Given the description of an element on the screen output the (x, y) to click on. 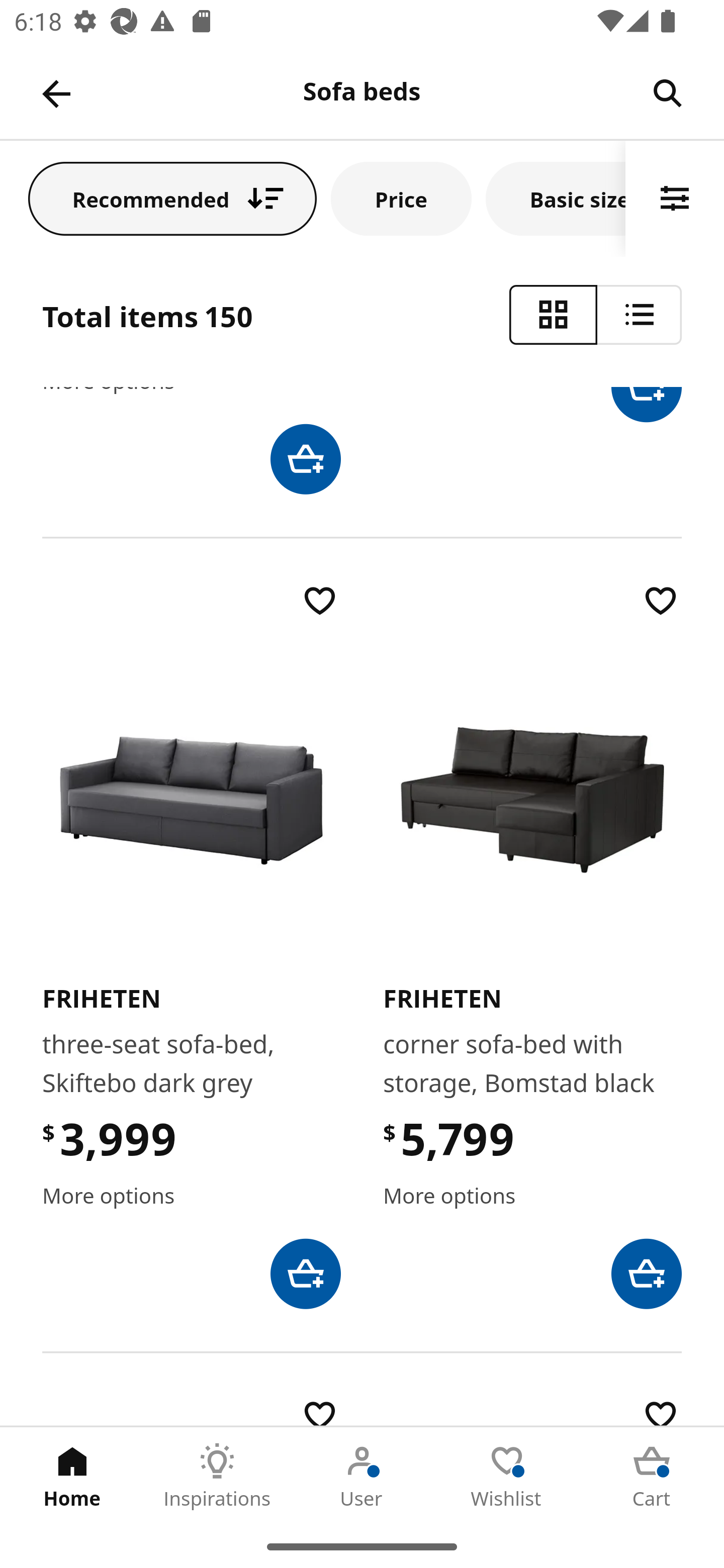
Recommended (172, 198)
Price (400, 198)
Basic sizes (555, 198)
Home
Tab 1 of 5 (72, 1476)
Inspirations
Tab 2 of 5 (216, 1476)
User
Tab 3 of 5 (361, 1476)
Wishlist
Tab 4 of 5 (506, 1476)
Cart
Tab 5 of 5 (651, 1476)
